Given the description of an element on the screen output the (x, y) to click on. 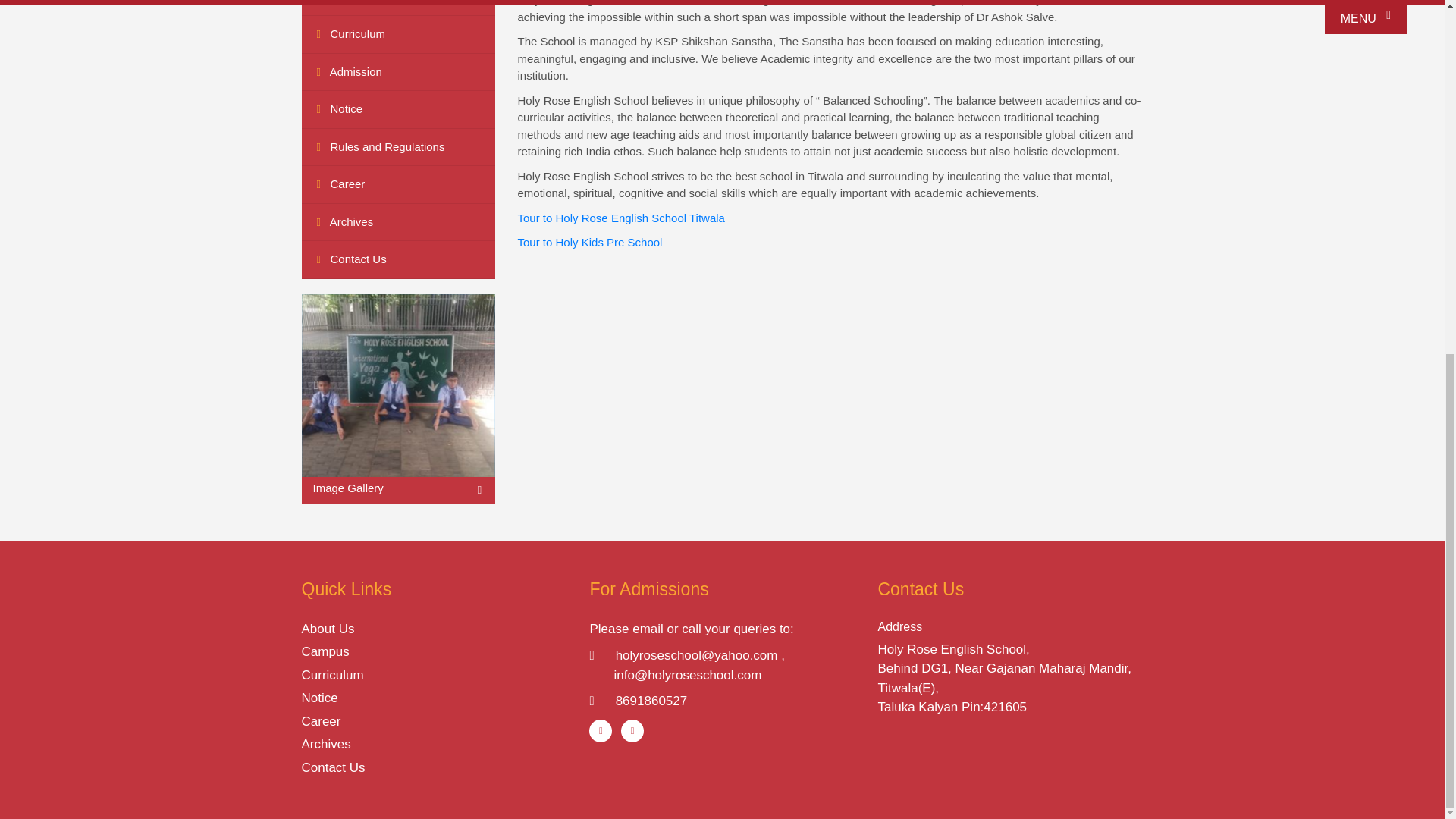
  Career (398, 184)
Tour to Holy Rose English School Titwala (619, 217)
  Admission (398, 72)
  Archives (398, 222)
  Rules and Regulations (398, 147)
  Campus (398, 8)
  Curriculum (398, 34)
  Notice (398, 109)
Tour to Holy Kids Pre School (589, 241)
  Contact Us (398, 259)
